Given the description of an element on the screen output the (x, y) to click on. 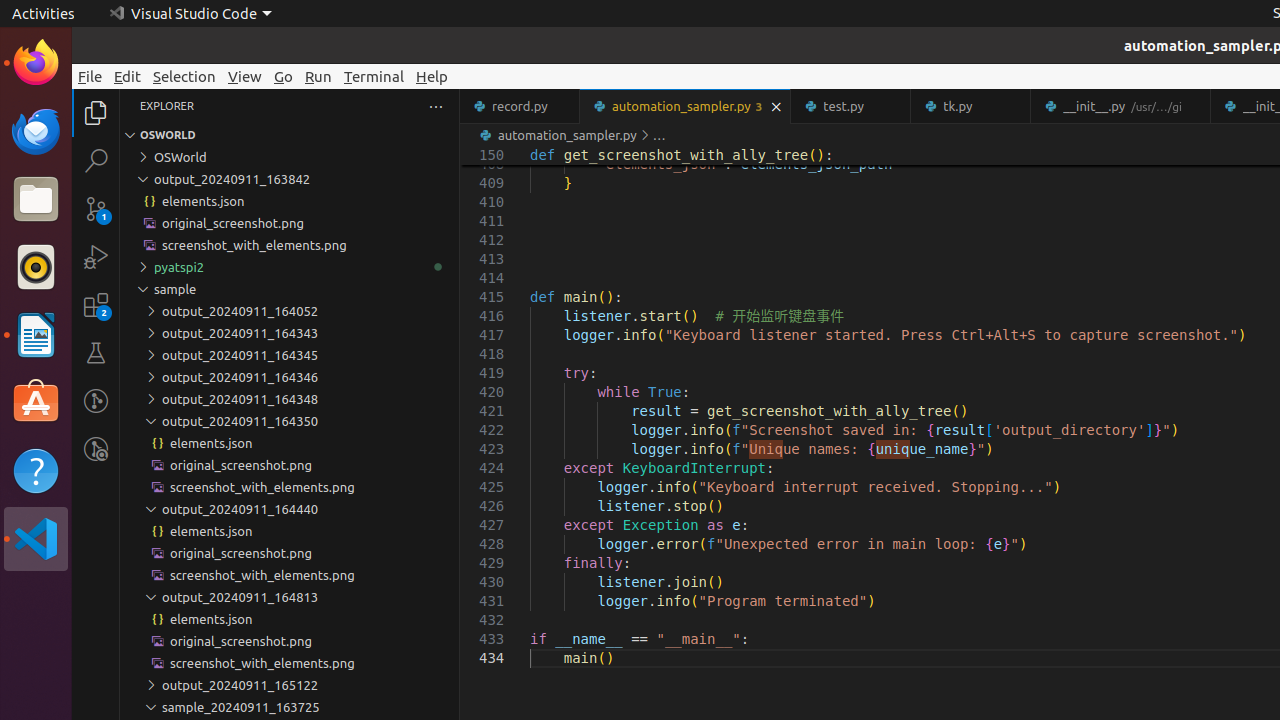
OSWorld Element type: tree-item (289, 157)
Search (Ctrl+Shift+F) Element type: page-tab (96, 160)
output_20240911_164346 Element type: tree-item (289, 377)
output_20240911_165122 Element type: tree-item (289, 685)
